Given the description of an element on the screen output the (x, y) to click on. 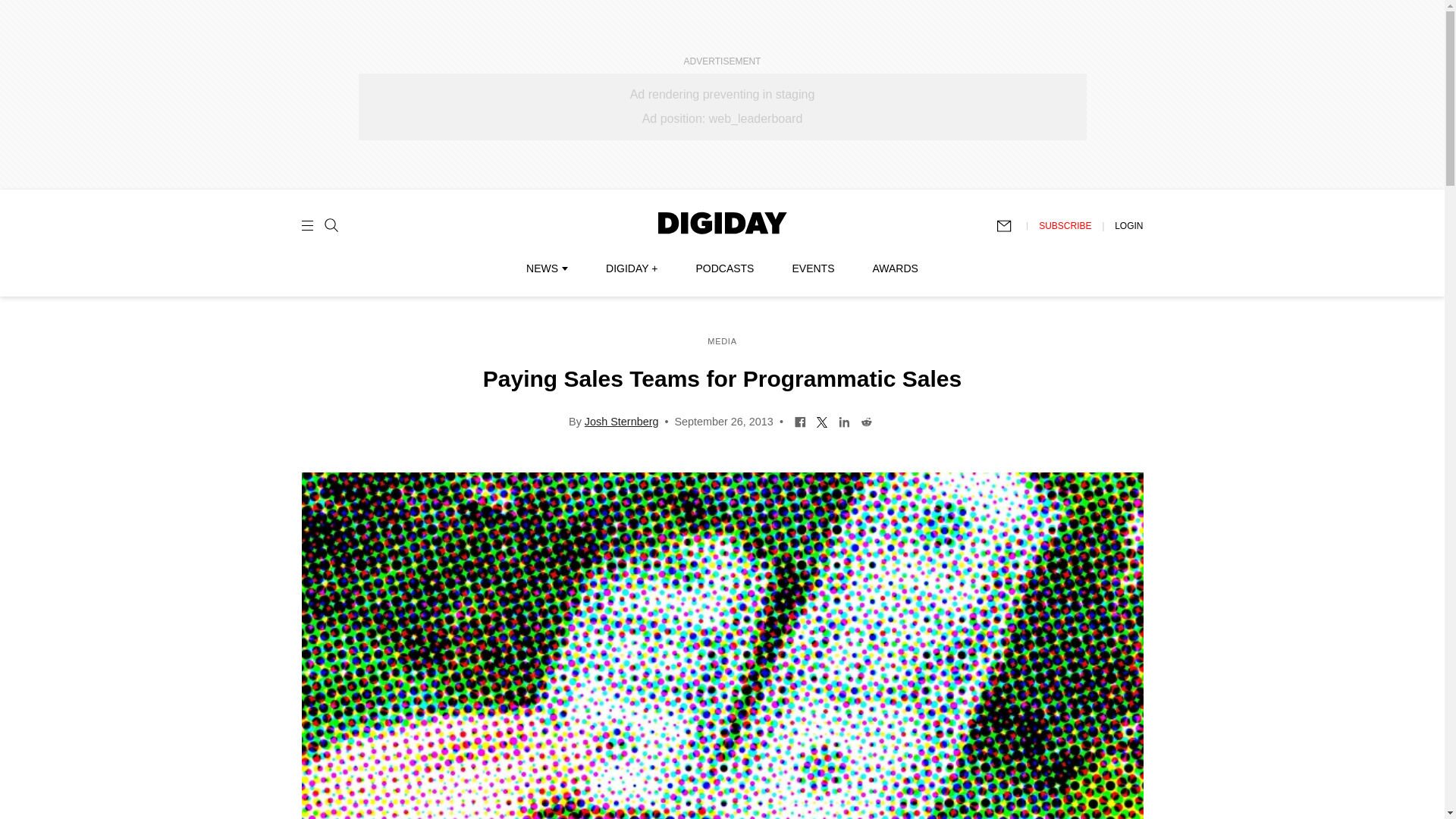
Share on Facebook (799, 420)
Share on LinkedIn (844, 420)
Share on Reddit (866, 420)
AWARDS (894, 267)
SUBSCRIBE (1064, 225)
Subscribe (1010, 225)
Share on Twitter (821, 420)
LOGIN (1128, 225)
EVENTS (813, 267)
NEWS (546, 267)
PODCASTS (725, 267)
